Given the description of an element on the screen output the (x, y) to click on. 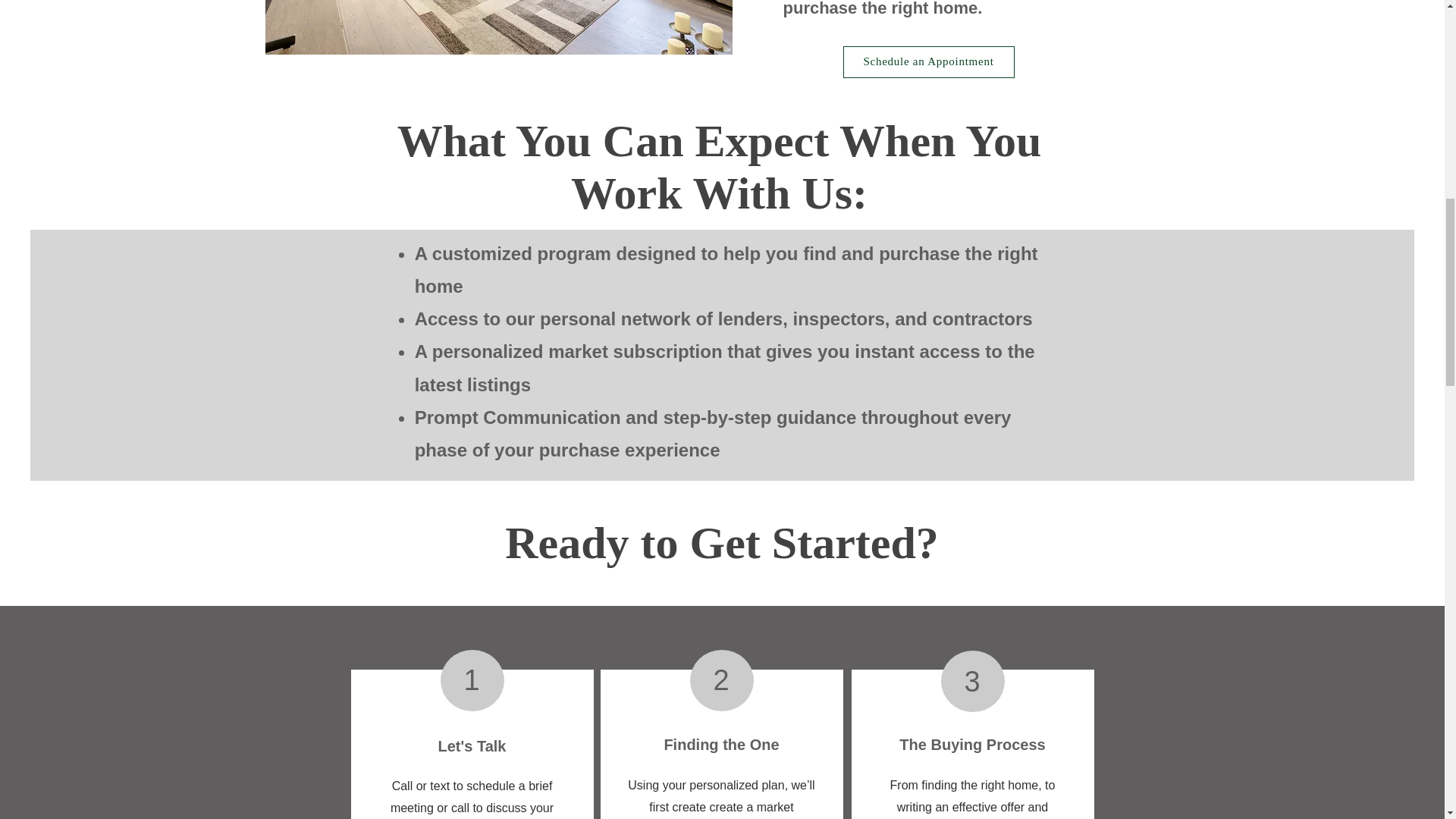
Schedule an Appointment (928, 61)
